Given the description of an element on the screen output the (x, y) to click on. 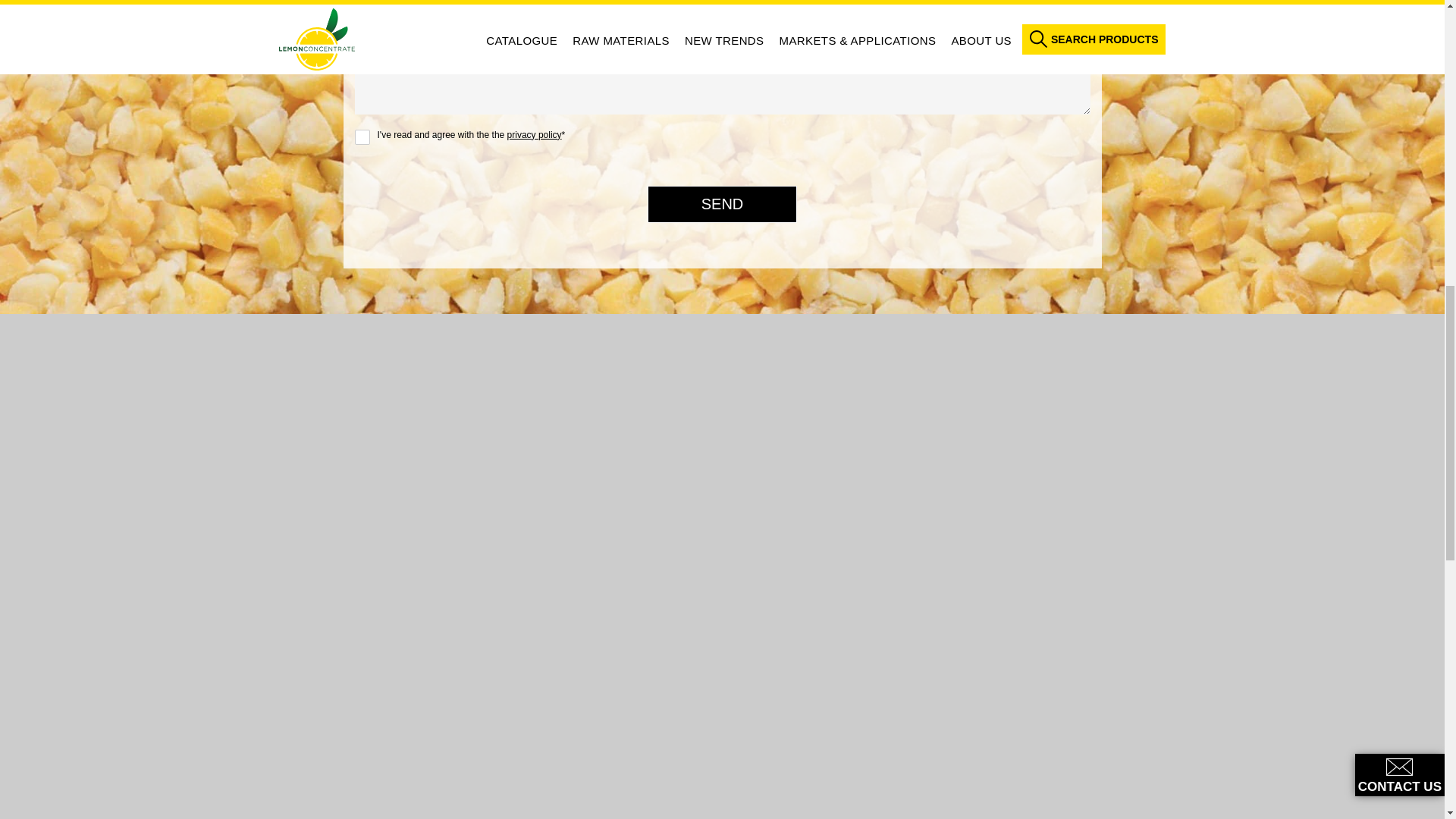
Send (722, 203)
